Given the description of an element on the screen output the (x, y) to click on. 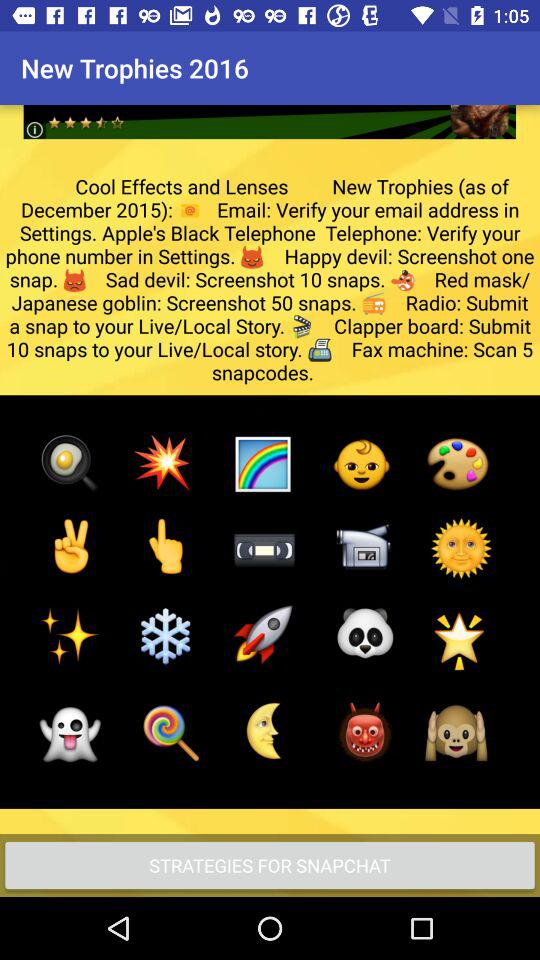
press the icon above cool effects and icon (269, 106)
